Given the description of an element on the screen output the (x, y) to click on. 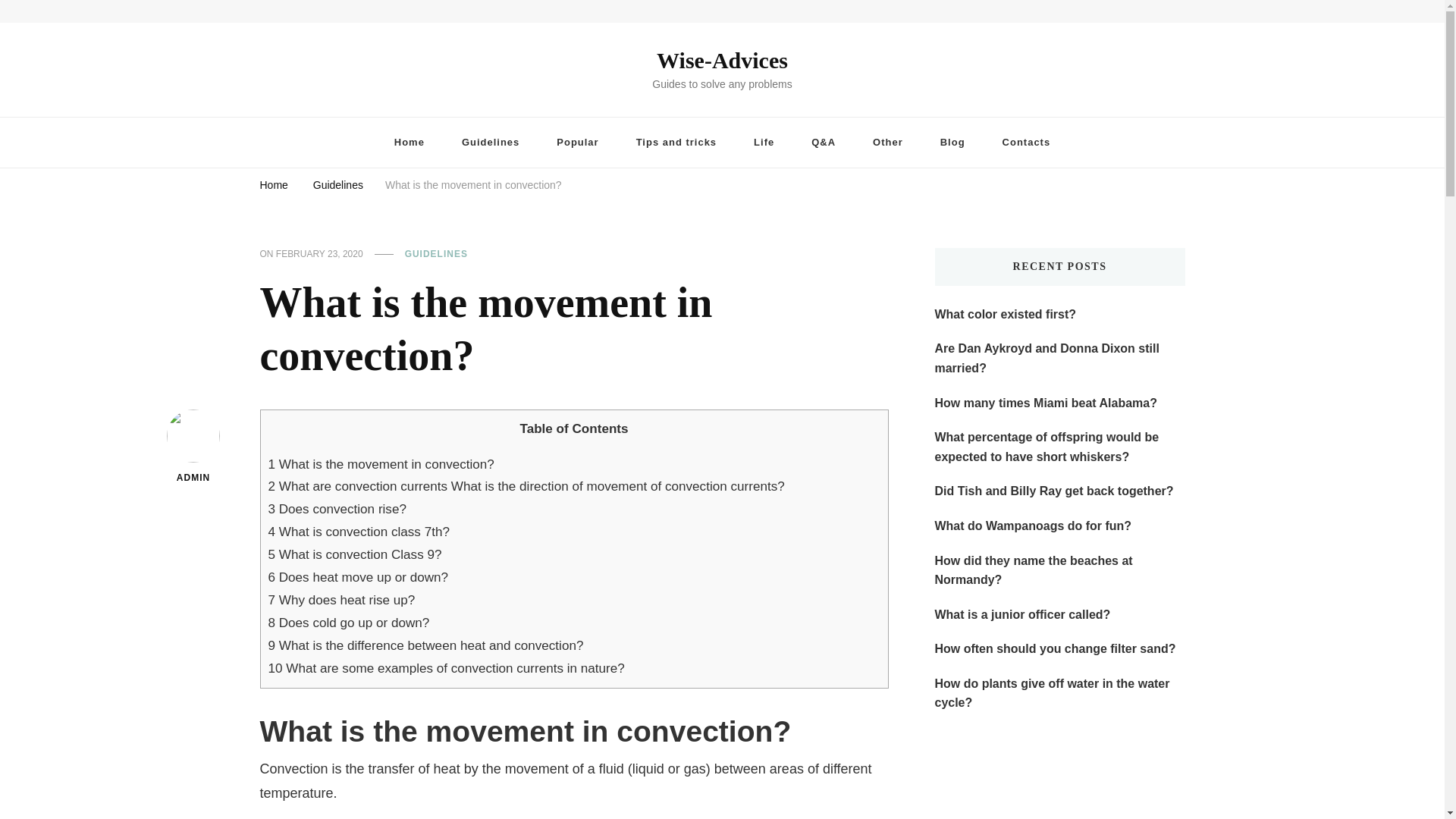
FEBRUARY 23, 2020 (319, 254)
6 Does heat move up or down? (357, 577)
4 What is convection class 7th? (358, 531)
GUIDELINES (435, 254)
5 What is convection Class 9? (354, 554)
Wise-Advices (721, 59)
10 What are some examples of convection currents in nature? (445, 667)
3 Does convection rise? (336, 509)
Other (888, 142)
Tips and tricks (676, 142)
